Given the description of an element on the screen output the (x, y) to click on. 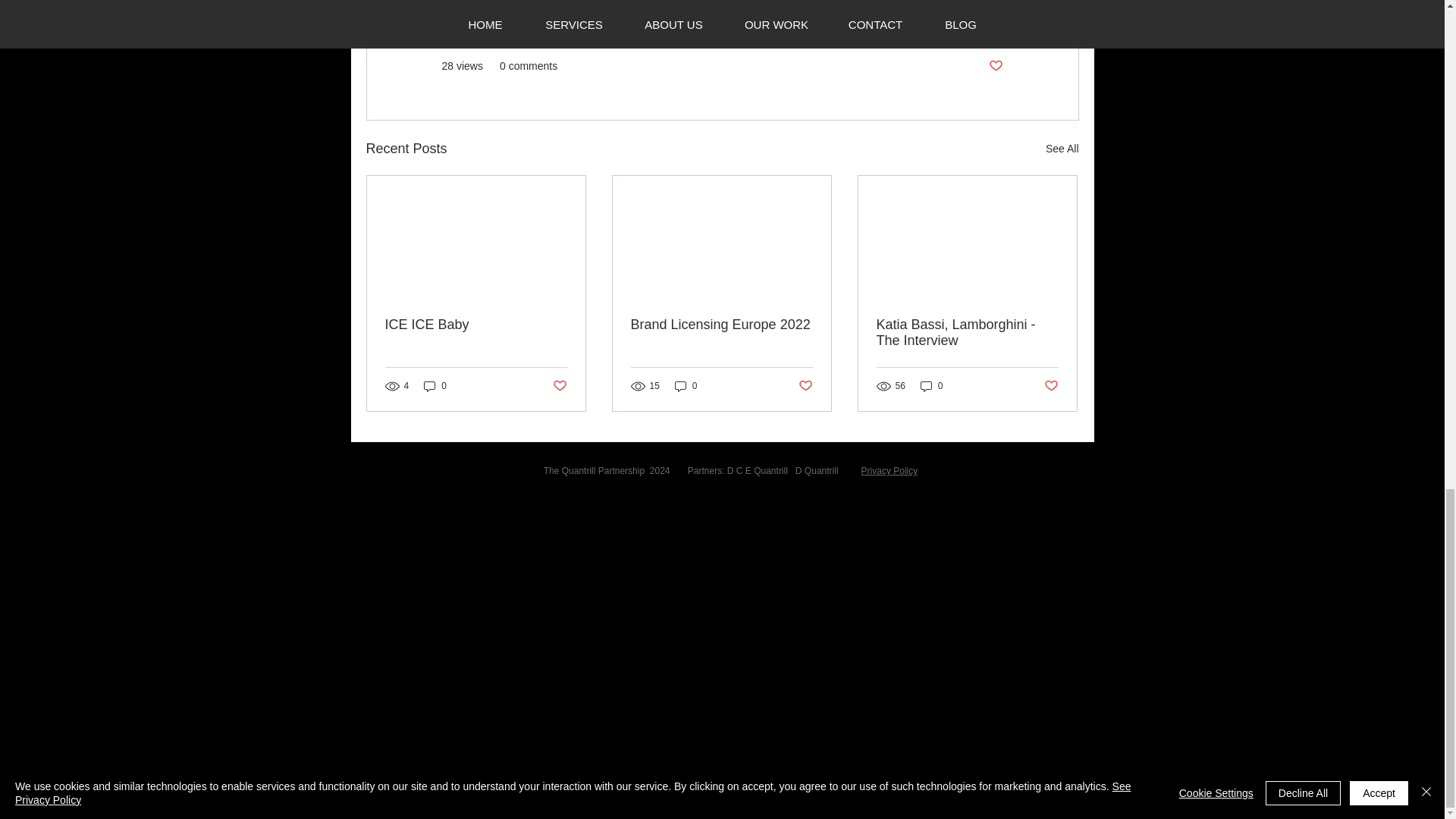
See All (1061, 148)
Post not marked as liked (558, 385)
ICE ICE Baby (476, 324)
Post not marked as liked (995, 66)
Post not marked as liked (1050, 385)
Post not marked as liked (804, 385)
Brand Licensing Europe 2022 (721, 324)
Katia Bassi, Lamborghini - The Interview (967, 332)
0 (931, 386)
0 (435, 386)
0 (685, 386)
Privacy Policy (889, 470)
